Given the description of an element on the screen output the (x, y) to click on. 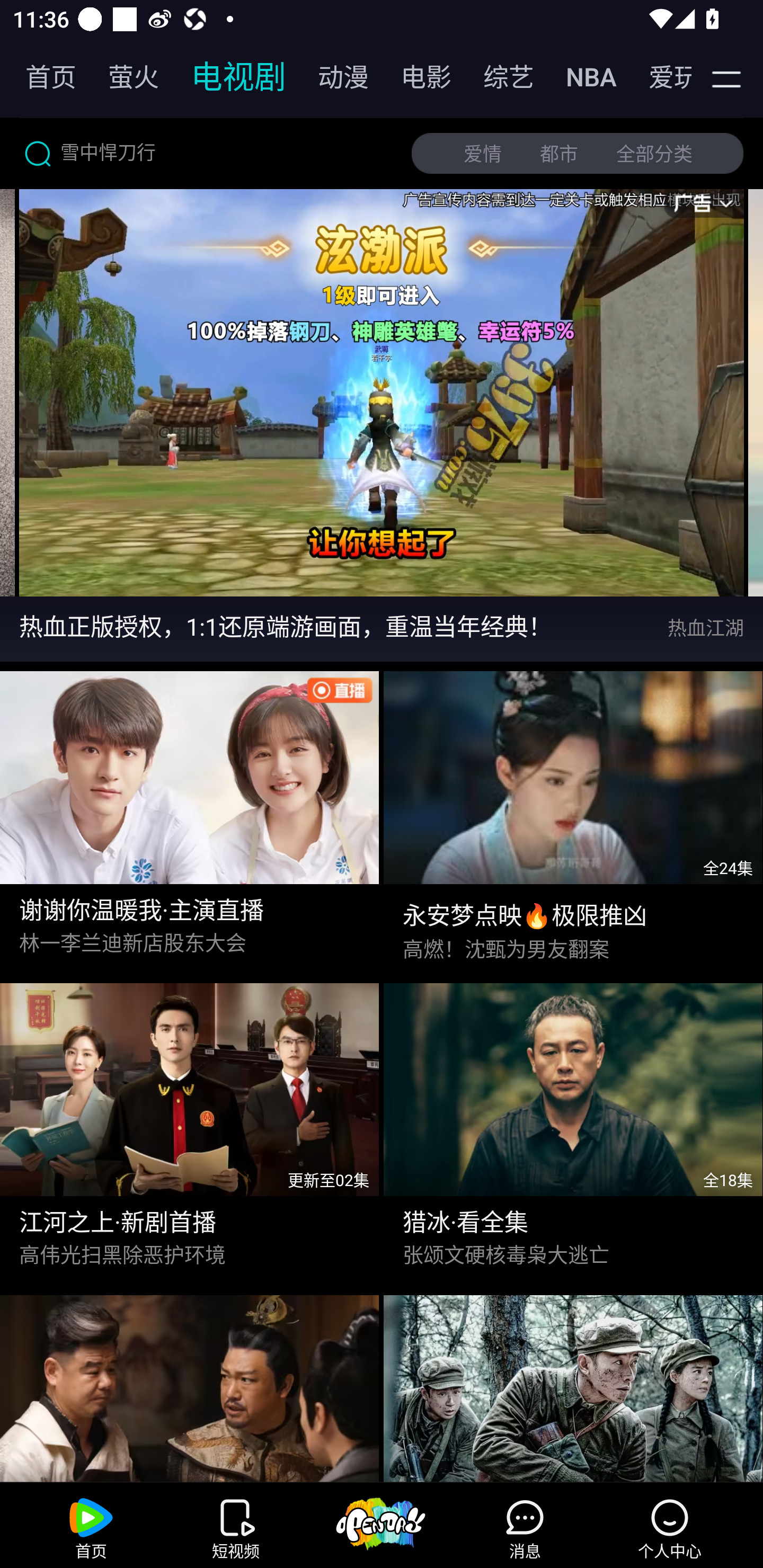
首页 (41, 77)
萤火 (123, 77)
电视剧 (228, 77)
动漫 (333, 77)
电影 (416, 77)
综艺 (498, 77)
NBA (581, 77)
爱玩 (657, 77)
雪中悍刀行 (207, 152)
爱情 (482, 153)
都市 (559, 153)
全部分类 (654, 153)
热血江湖 (715, 628)
谢谢你温暖我·主演直播,链接 谢谢你温暖我·主演直播 林一李兰迪新店股东大会 (189, 817)
永安梦点映🔥极限推凶,全24集,链接 永安梦点映🔥极限推凶 高燃！沈甄为男友翻案 (572, 817)
江河之上·新剧首播,更新至02集,链接 江河之上·新剧首播 高伟光扫黑除恶护环境 (189, 1129)
猎冰·看全集,全18集,链接 猎冰·看全集 张颂文硬核毒枭大逃亡 (572, 1129)
欢乐英雄·更新,更新至16集,链接 (189, 1383)
侦察英雄,全32集,链接 (572, 1383)
